Given the description of an element on the screen output the (x, y) to click on. 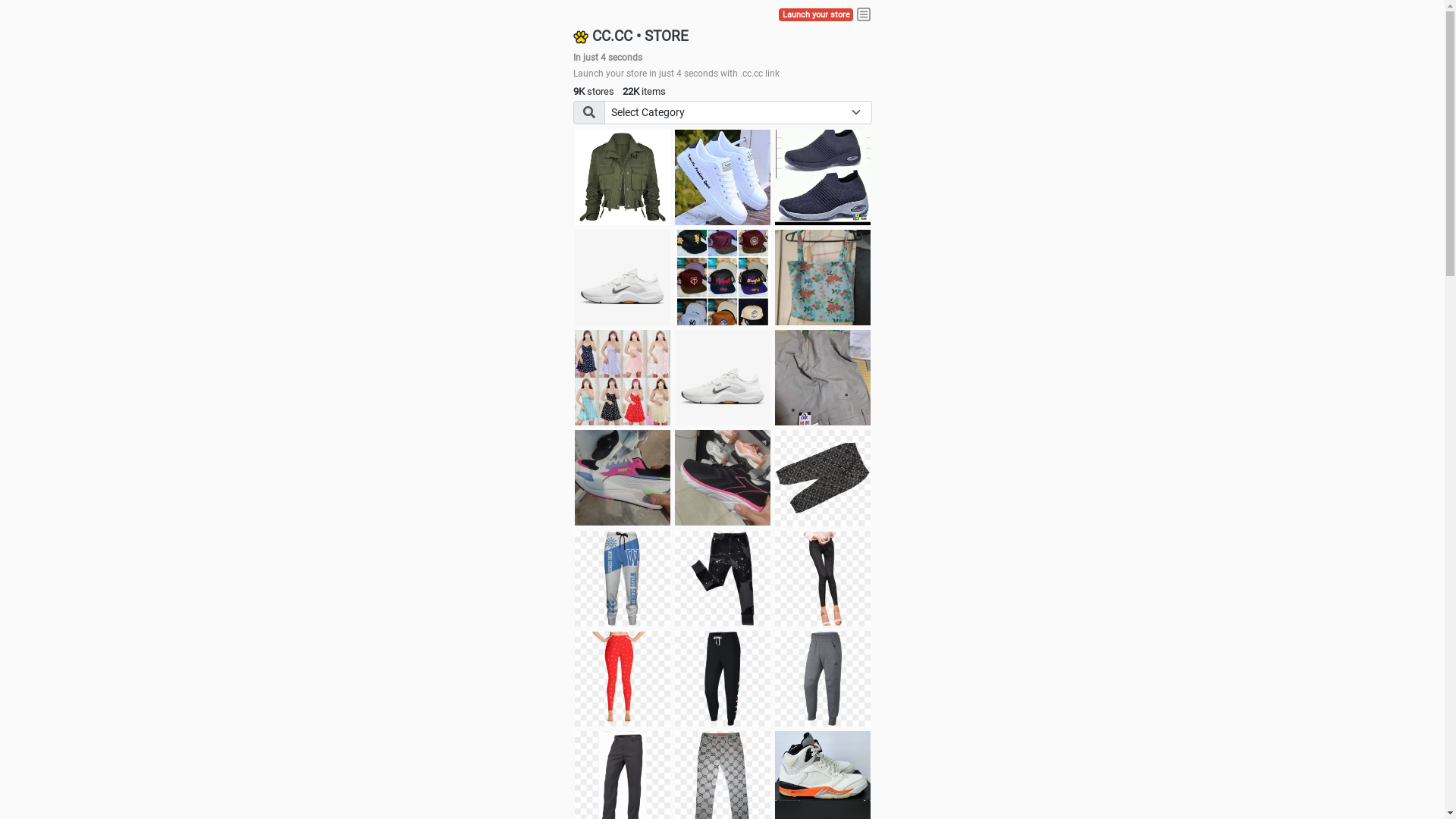
shoes for boys Element type: hover (822, 177)
Ukay cloth Element type: hover (822, 277)
Short pant Element type: hover (822, 477)
Pant Element type: hover (722, 578)
Pant Element type: hover (622, 678)
Pant Element type: hover (722, 678)
Things we need Element type: hover (722, 277)
Shoes Element type: hover (722, 377)
Pant Element type: hover (622, 578)
Shoes for boys Element type: hover (622, 277)
Pant Element type: hover (822, 578)
Launch your store Element type: text (815, 14)
Pant Element type: hover (822, 678)
white shoes Element type: hover (722, 177)
Zapatillas Element type: hover (722, 477)
Zapatillas pumas Element type: hover (622, 477)
jacket Element type: hover (622, 177)
Dress/square nect top Element type: hover (622, 377)
